Given the description of an element on the screen output the (x, y) to click on. 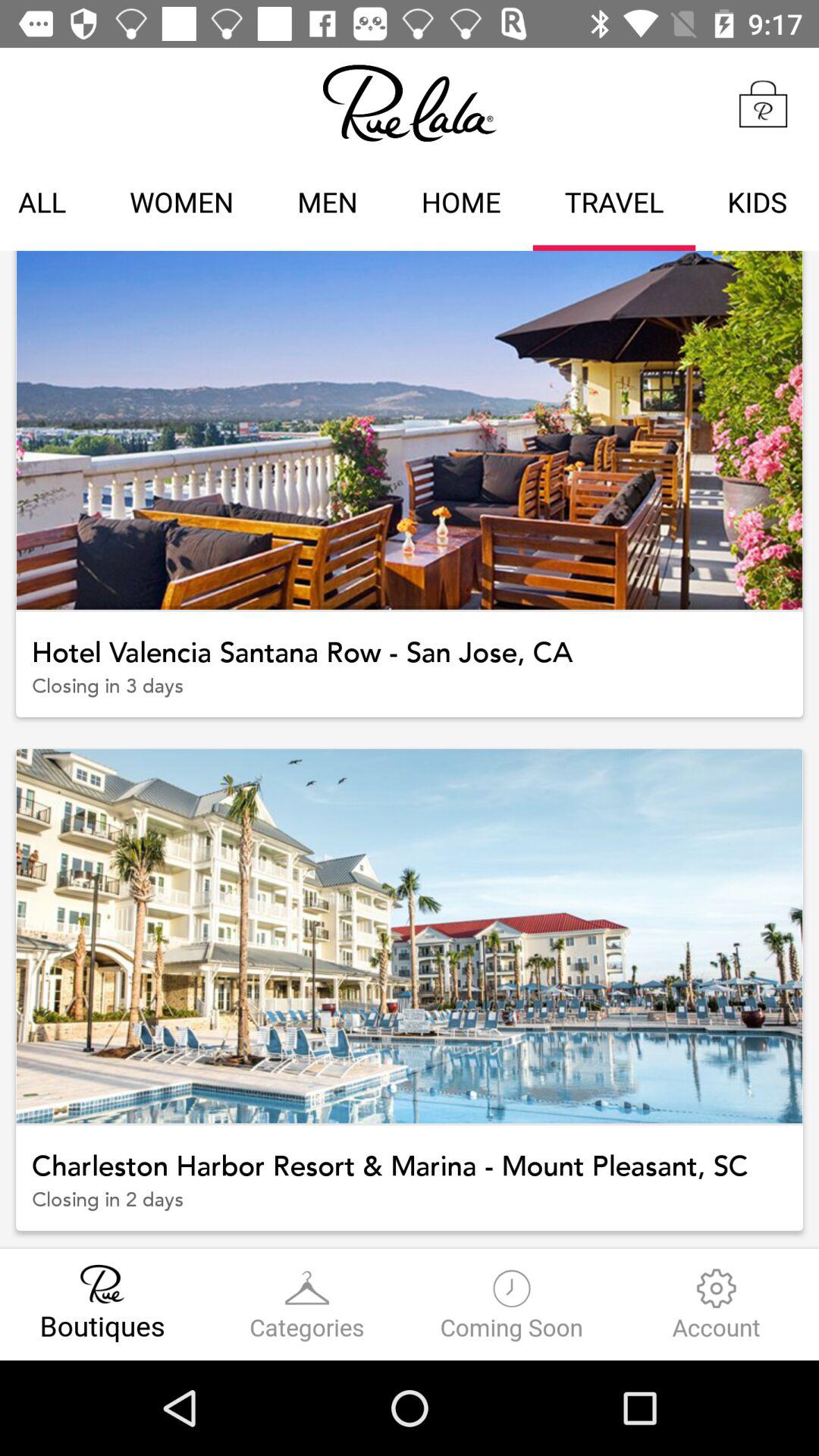
press kids item (757, 204)
